Given the description of an element on the screen output the (x, y) to click on. 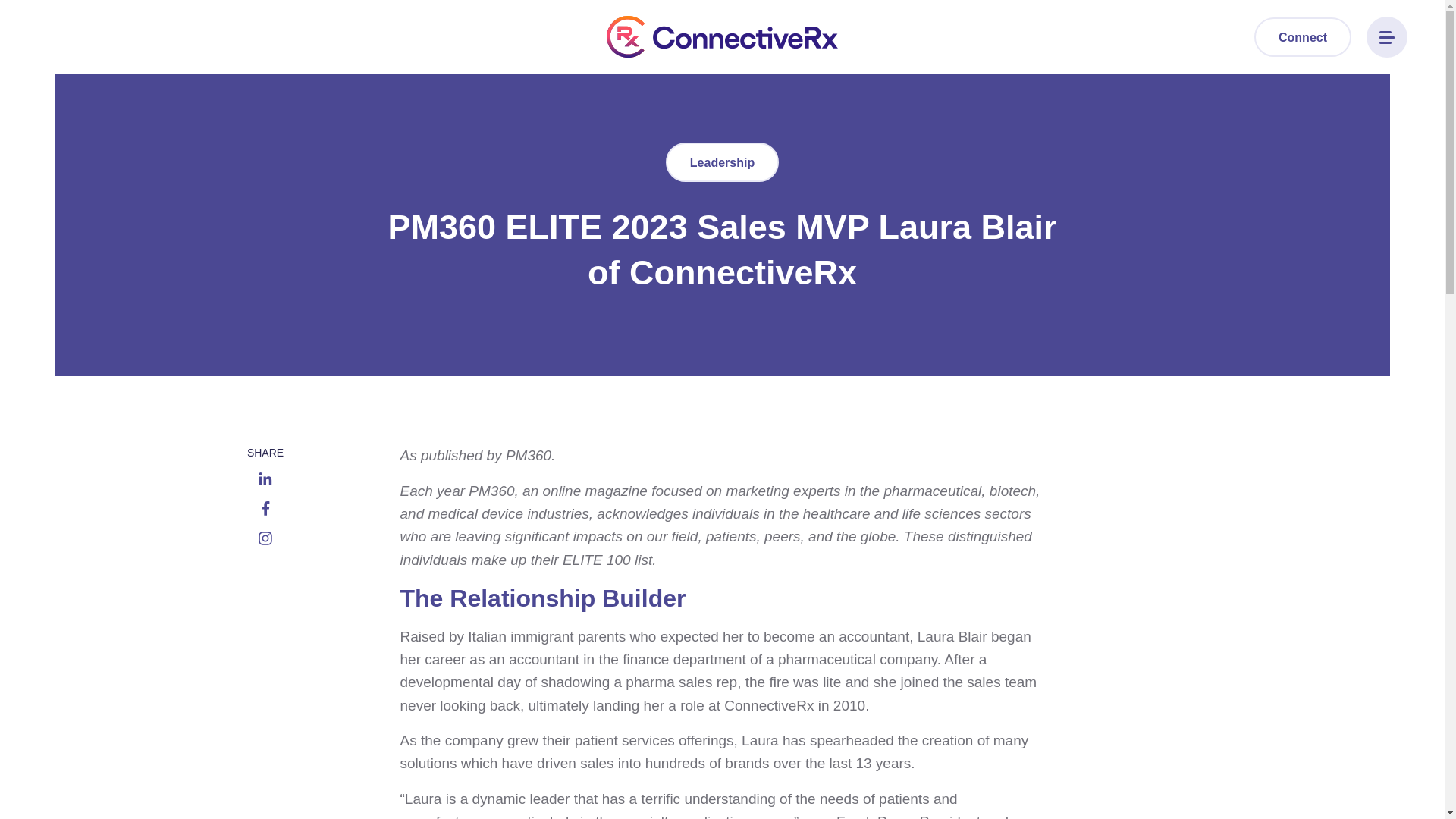
Leadership (721, 161)
Connect (1302, 36)
